Given the description of an element on the screen output the (x, y) to click on. 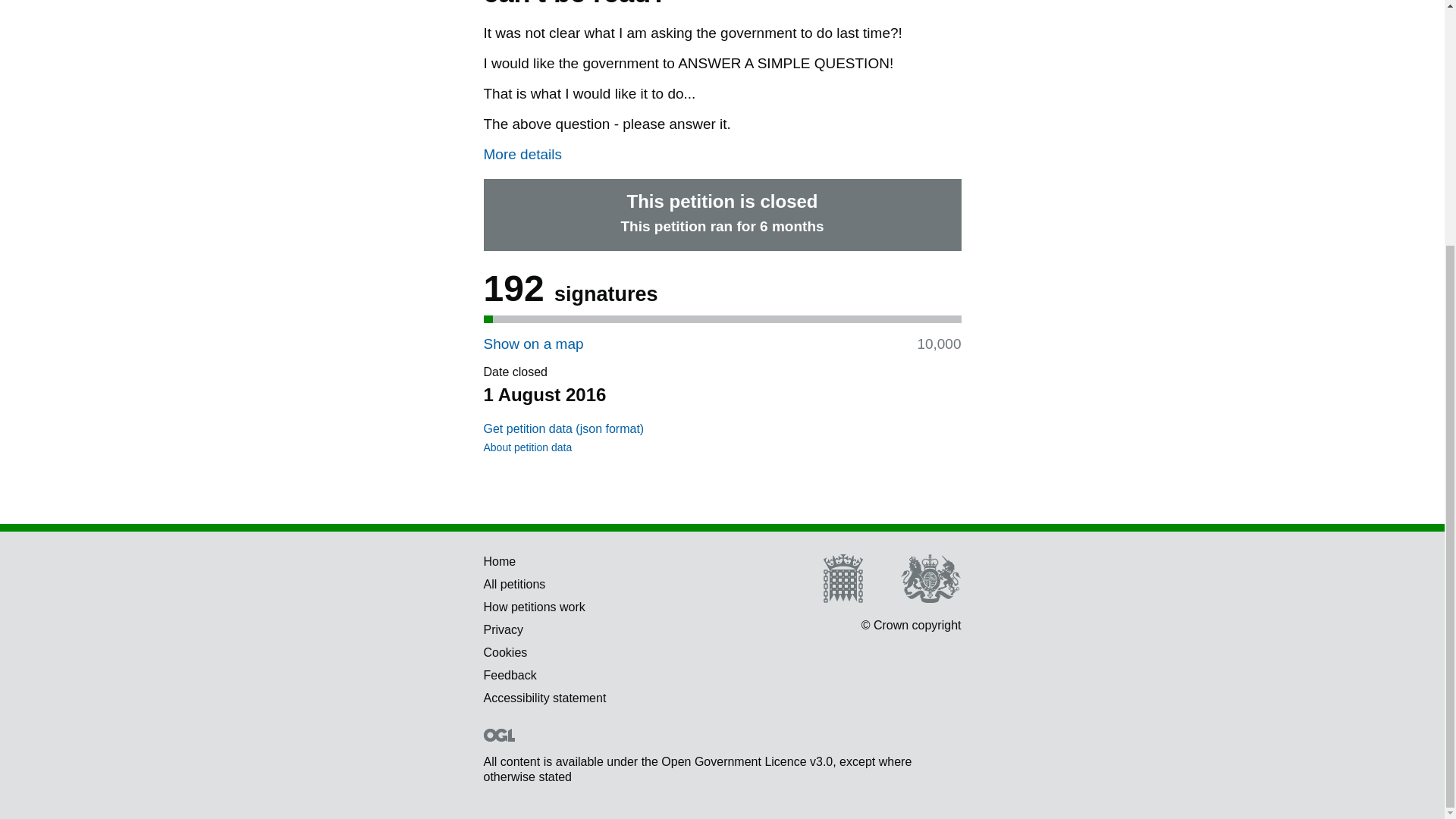
Accessibility statement (545, 697)
How petitions work (534, 606)
Privacy (502, 629)
Show on a map (533, 343)
Cookies (505, 652)
Open Government Licence v3.0 (746, 761)
Home (499, 561)
Feedback (510, 675)
All petitions (514, 584)
Open Government Licence (499, 735)
